Given the description of an element on the screen output the (x, y) to click on. 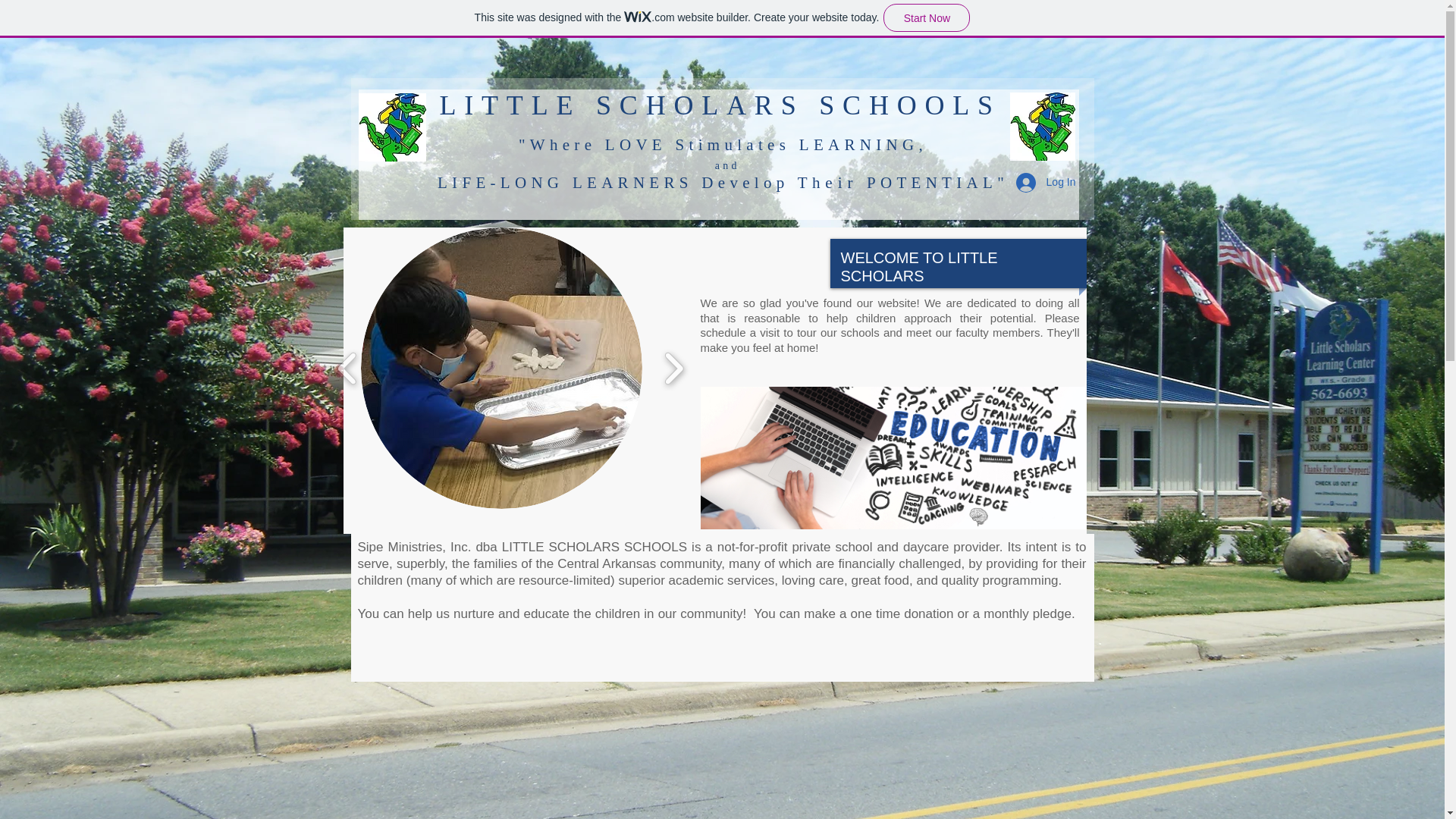
Log In (1046, 182)
